Given the description of an element on the screen output the (x, y) to click on. 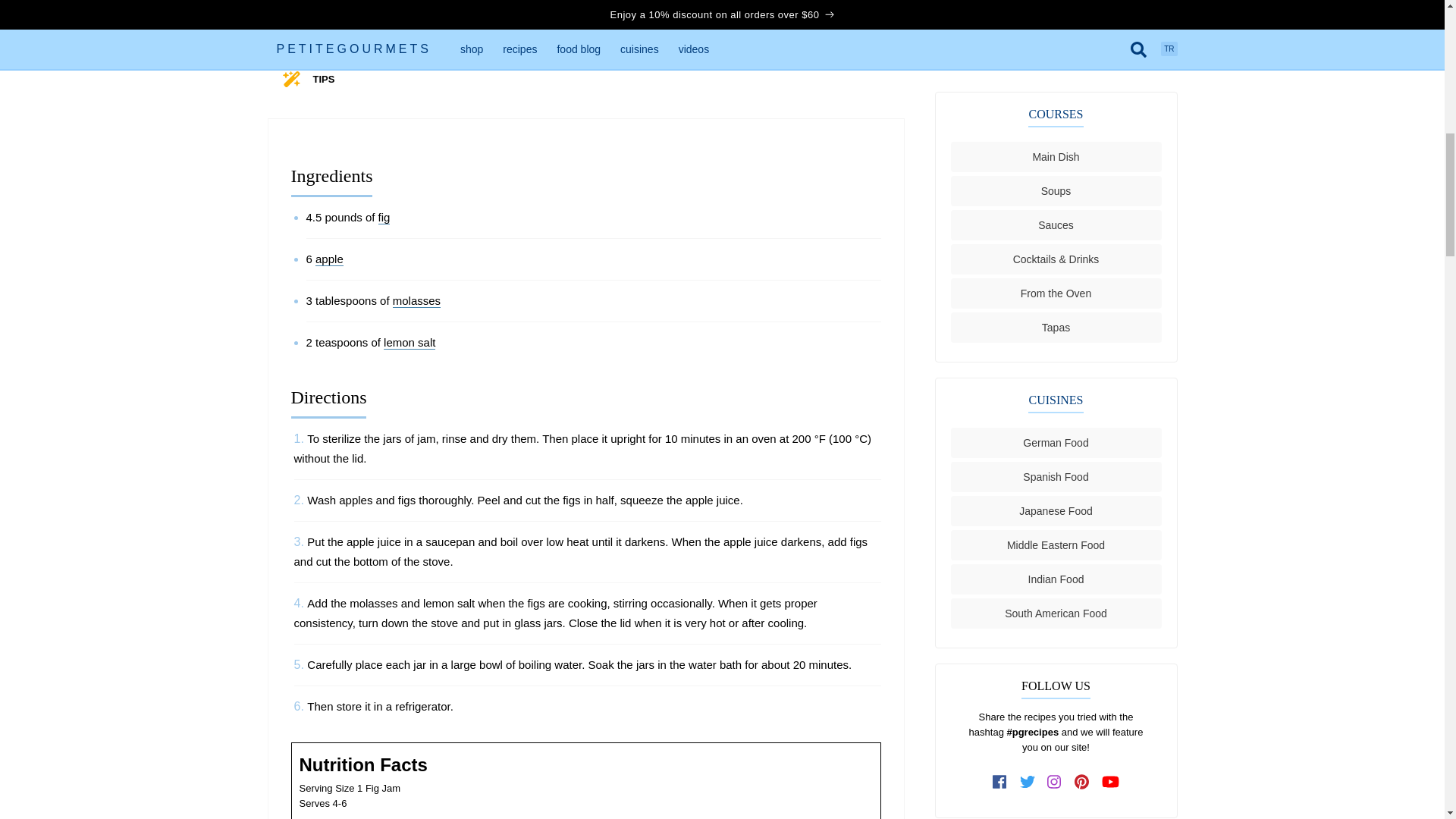
TIPS (323, 79)
molasses (417, 300)
INGREDIENTS (346, 34)
EQUIPMENTS (753, 34)
NUTRITION (619, 34)
fig (384, 217)
apple (329, 259)
lemon salt (409, 342)
DIRECTIONS (486, 34)
